Given the description of an element on the screen output the (x, y) to click on. 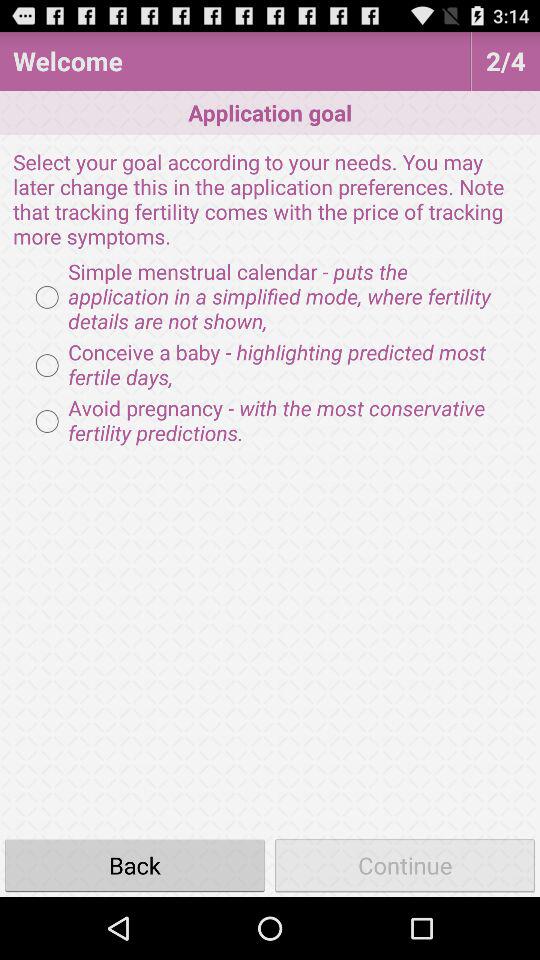
scroll until conceive a baby icon (269, 365)
